Given the description of an element on the screen output the (x, y) to click on. 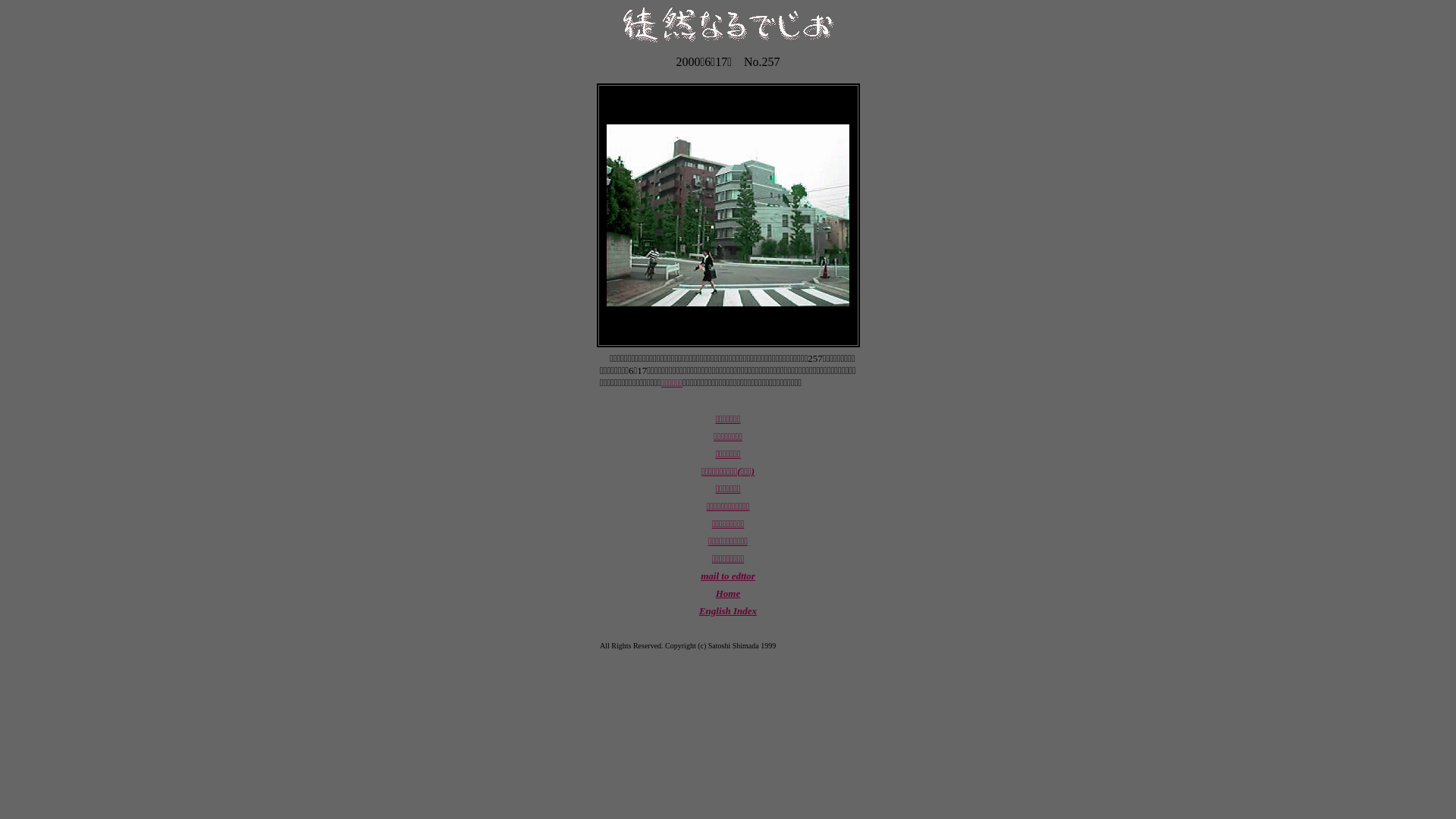
mail to edttor Element type: text (727, 575)
Home Element type: text (727, 593)
English Index Element type: text (727, 610)
